Given the description of an element on the screen output the (x, y) to click on. 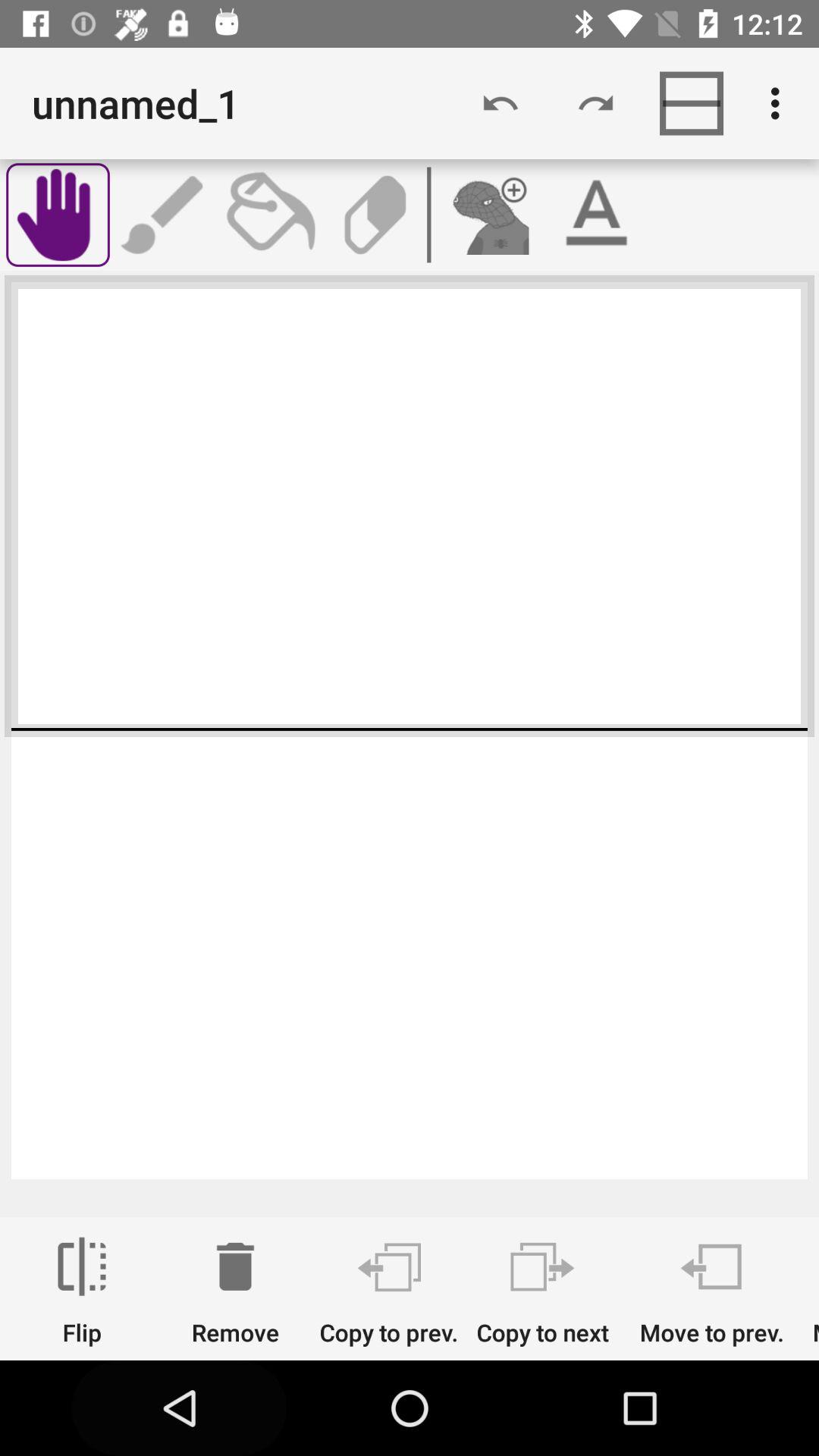
write a message (163, 214)
